Given the description of an element on the screen output the (x, y) to click on. 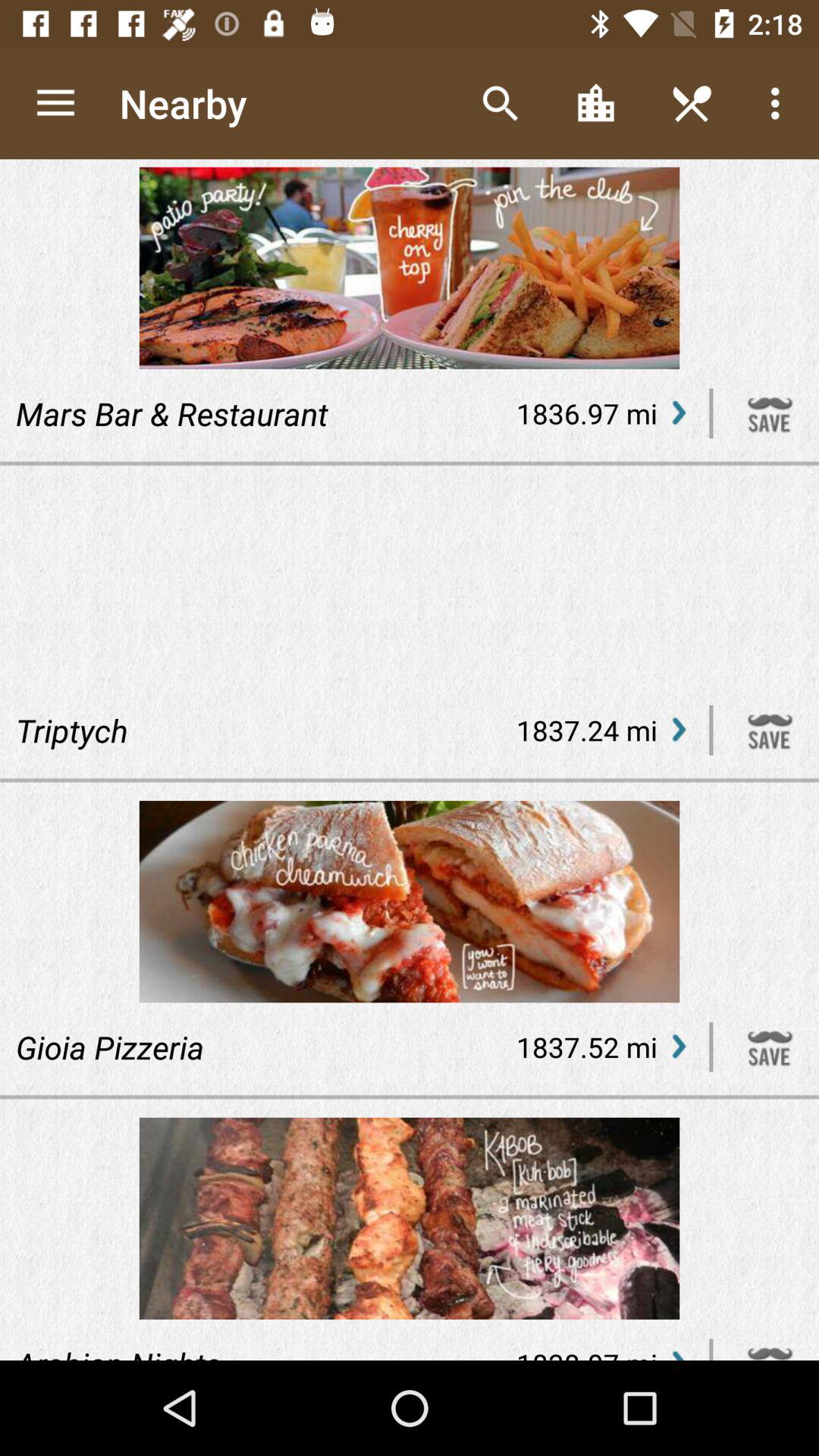
save this item (770, 729)
